Given the description of an element on the screen output the (x, y) to click on. 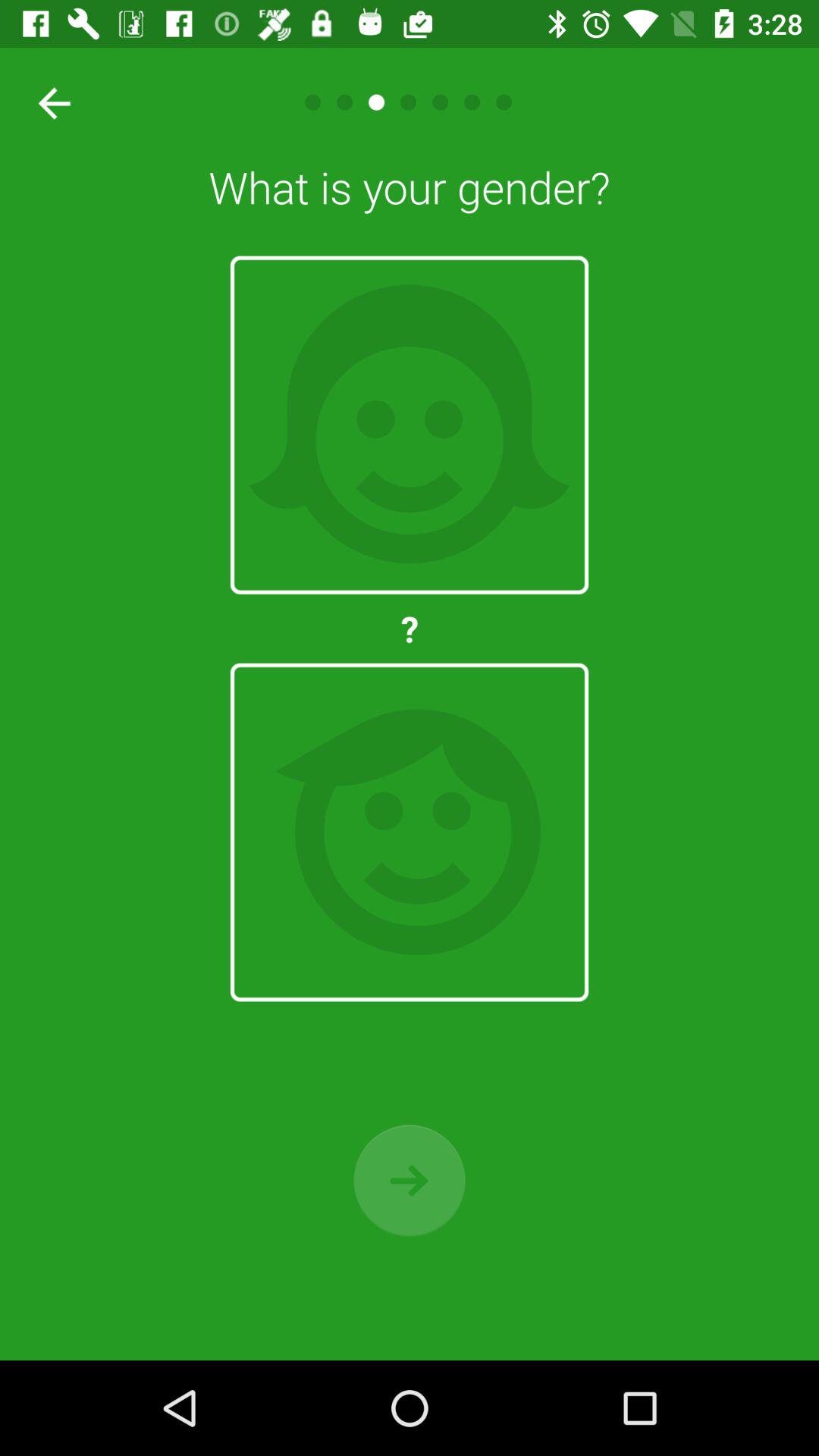
next (409, 1180)
